Given the description of an element on the screen output the (x, y) to click on. 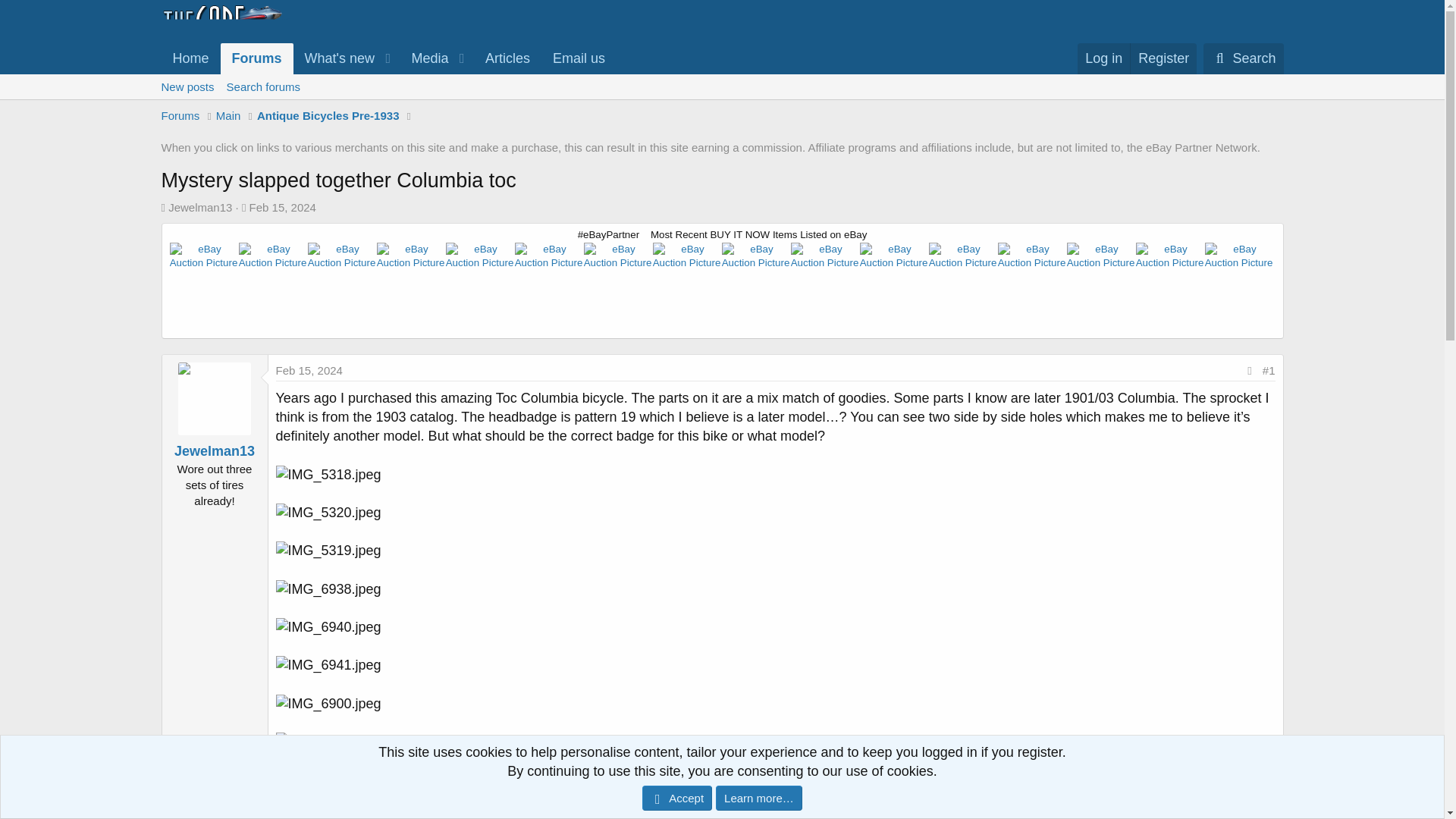
Search (1243, 58)
What's new (334, 58)
Search (388, 58)
Feb 15, 2024 at 7:47 AM (1243, 58)
Media (281, 206)
Email us (423, 58)
Log in (578, 58)
Forums (1103, 58)
